Given the description of an element on the screen output the (x, y) to click on. 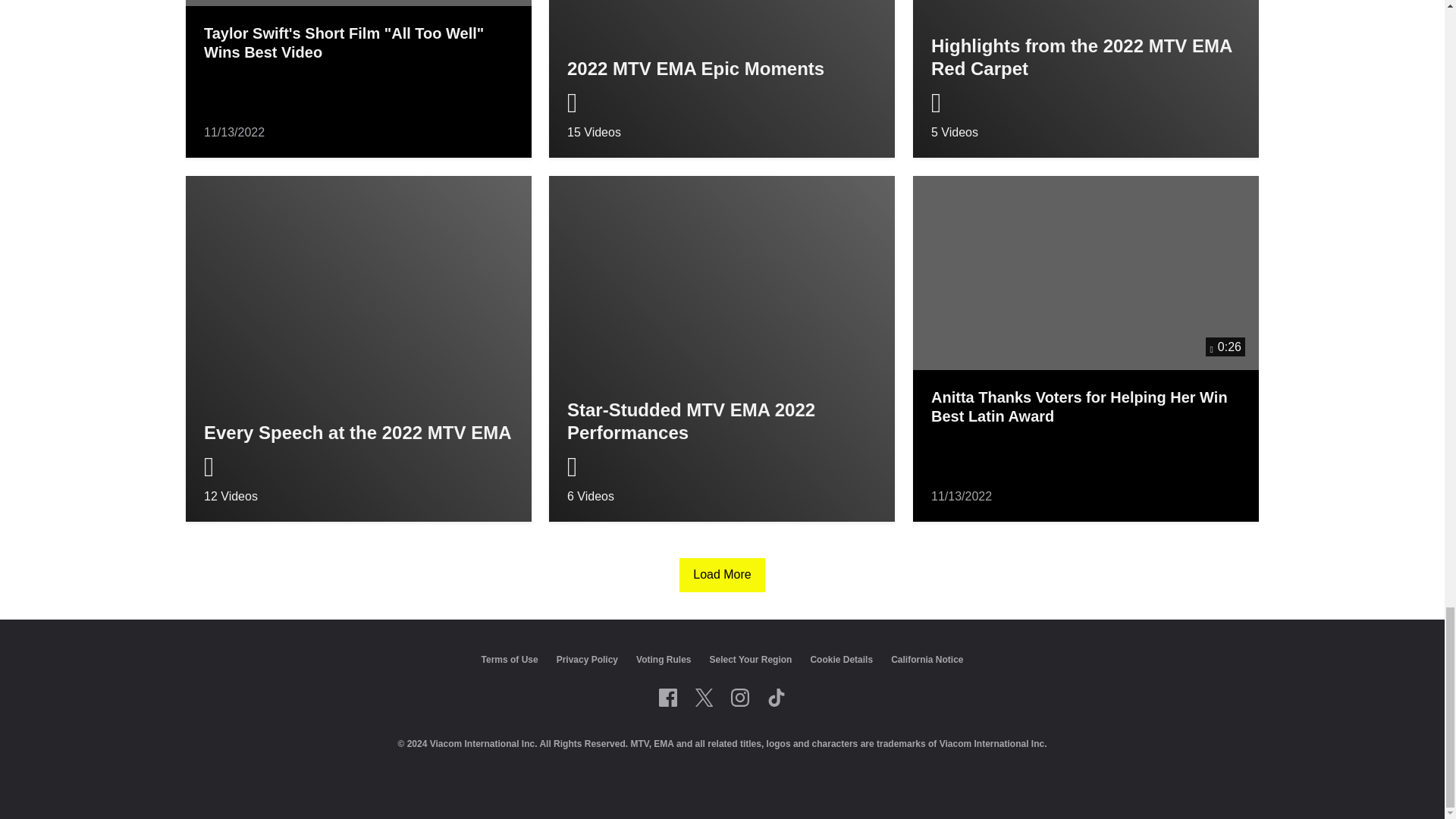
Terms of Use (509, 659)
Privacy Policy (1085, 79)
California Notice (586, 659)
Voting Rules (926, 659)
Your Privacy Choices (663, 659)
Facebook-icon (840, 659)
Cookie Details (721, 348)
TikTok-icon (357, 348)
Load More (668, 697)
Select Your Region (840, 659)
California Notice (776, 697)
Privacy Policy (722, 574)
